Given the description of an element on the screen output the (x, y) to click on. 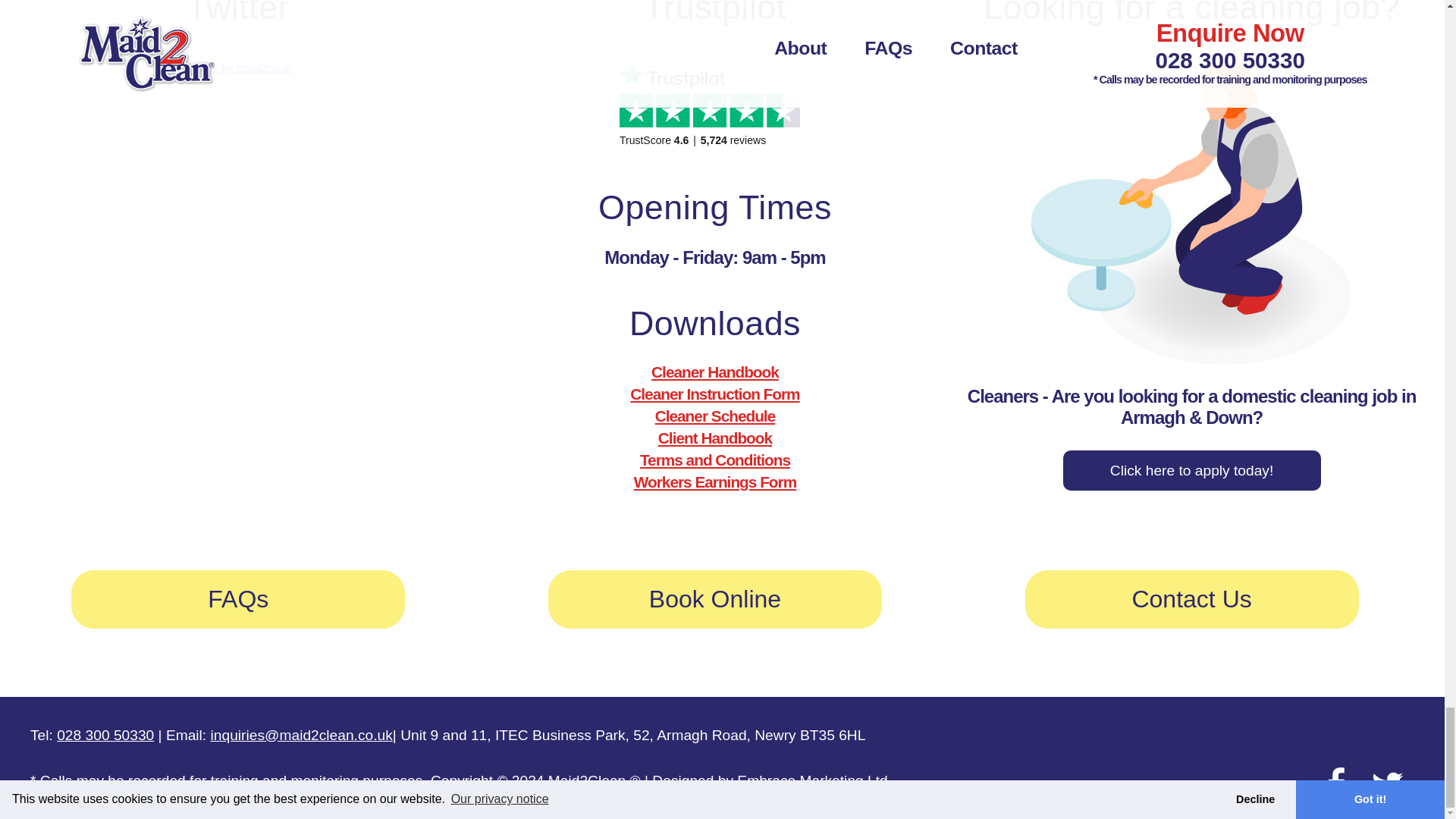
Cleaner Instruction Form (714, 393)
Terms and Conditions (715, 459)
Client Handbook (714, 437)
Click here to apply today! (1191, 470)
Cleaner Schedule (715, 416)
Customer reviews powered by Trustpilot (715, 118)
Cleaner Handbook (714, 371)
Book Online (715, 599)
Contact Us (1191, 599)
FAQs (237, 599)
028 300 50330 (105, 734)
Workers Earnings Form (714, 481)
Tweets by maid2clean (238, 67)
